Given the description of an element on the screen output the (x, y) to click on. 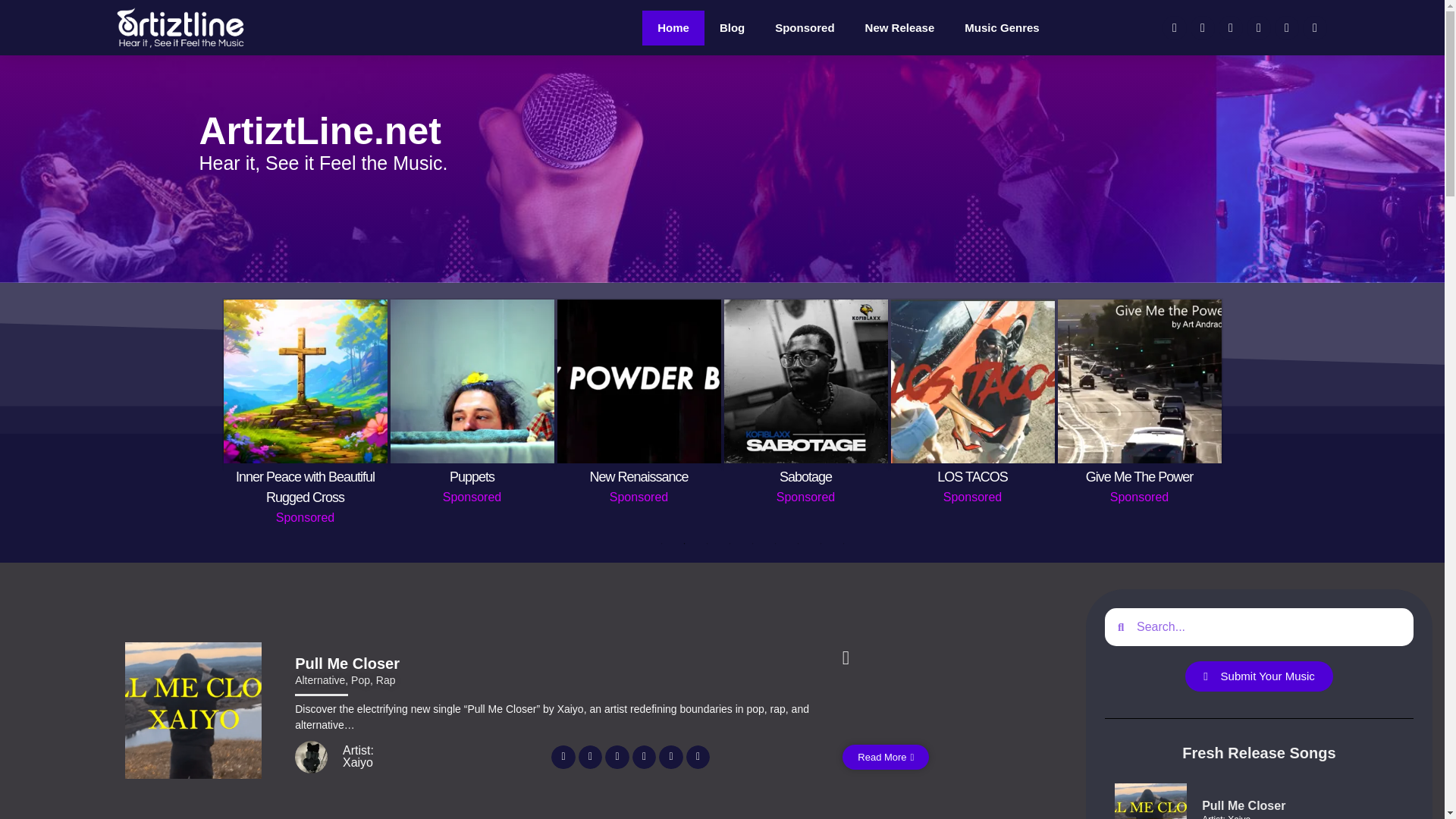
Home (673, 27)
Music Genres (1001, 27)
Sponsored (804, 27)
Screenshot 2024-08-05 222331 (471, 381)
New Release (900, 27)
Blog (732, 27)
Screenshot 2024-08-07 212542 (304, 381)
